Given the description of an element on the screen output the (x, y) to click on. 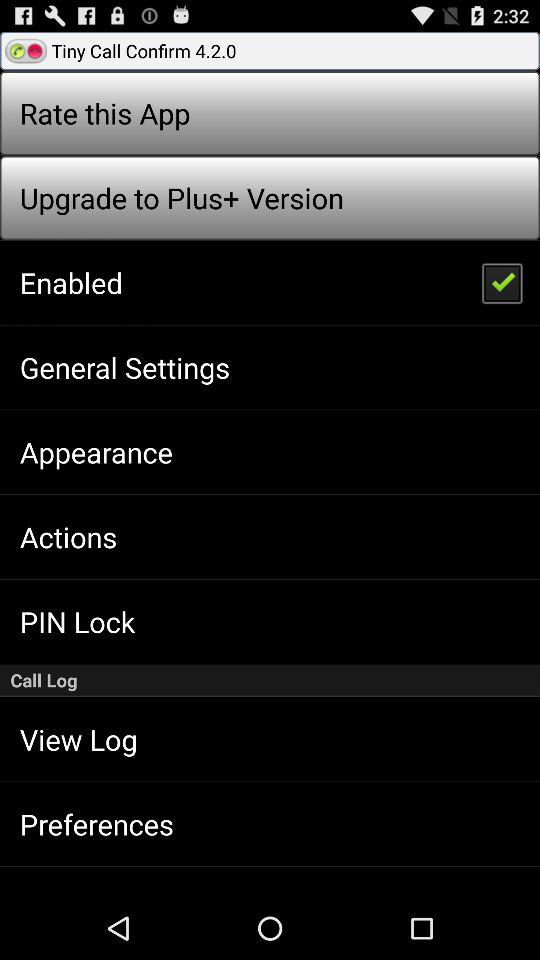
choose the app above the call log icon (501, 282)
